Given the description of an element on the screen output the (x, y) to click on. 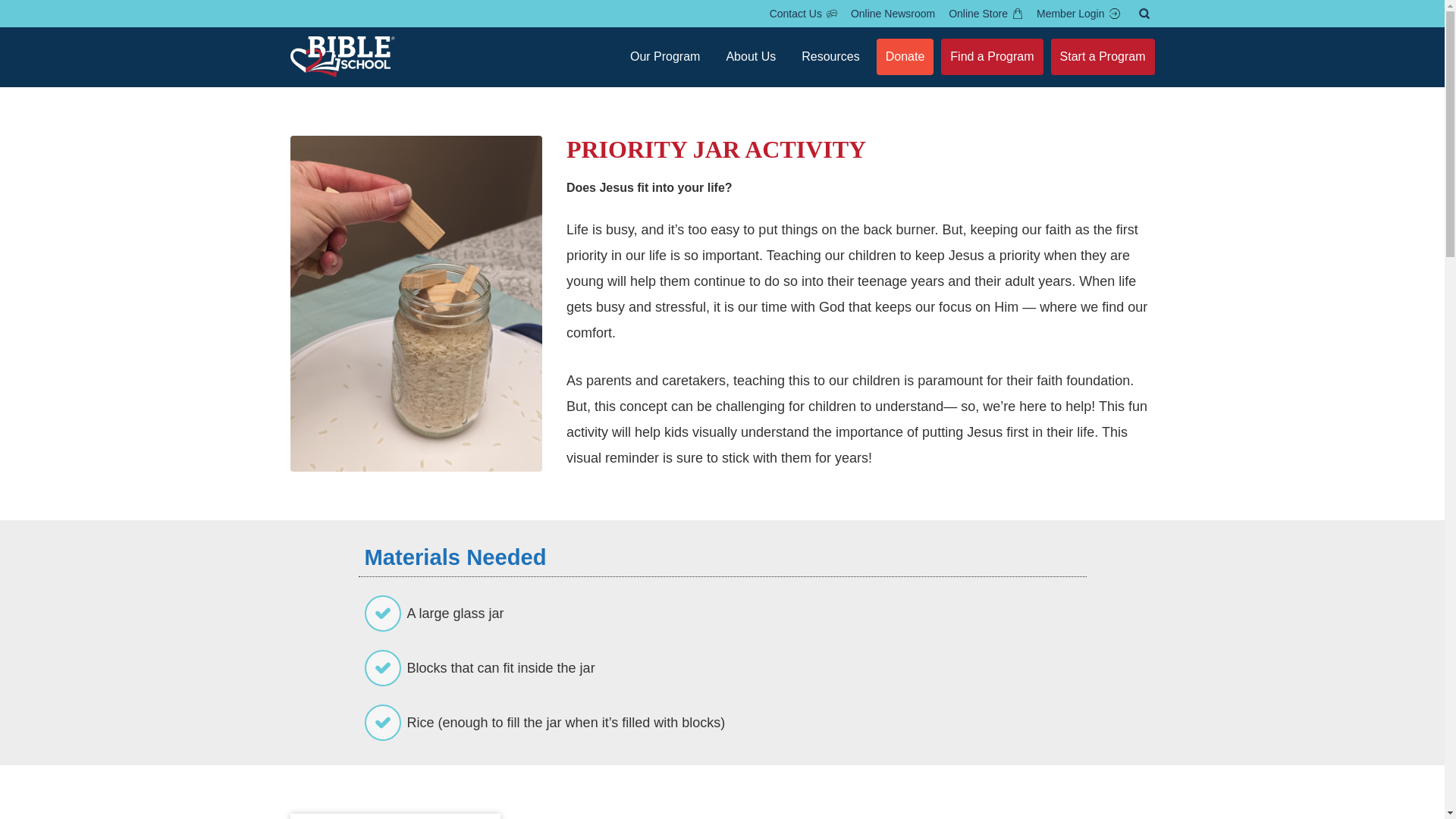
Online Store (985, 13)
Member Login (1077, 13)
Contact Us (803, 13)
Start a Program (1102, 56)
Our Program (665, 56)
Follow text link to Our Program page (665, 56)
Donate (905, 56)
Follow text link to Resources page (829, 56)
Online Newsroom (892, 13)
Bible2School (341, 56)
Follow text link to Search page (1143, 13)
Follow text link to Online Newsroom page (892, 13)
Follow text link to Online Store page (985, 13)
Follow text link to Contact Us page (803, 13)
Follow text link to About Us page (750, 56)
